Given the description of an element on the screen output the (x, y) to click on. 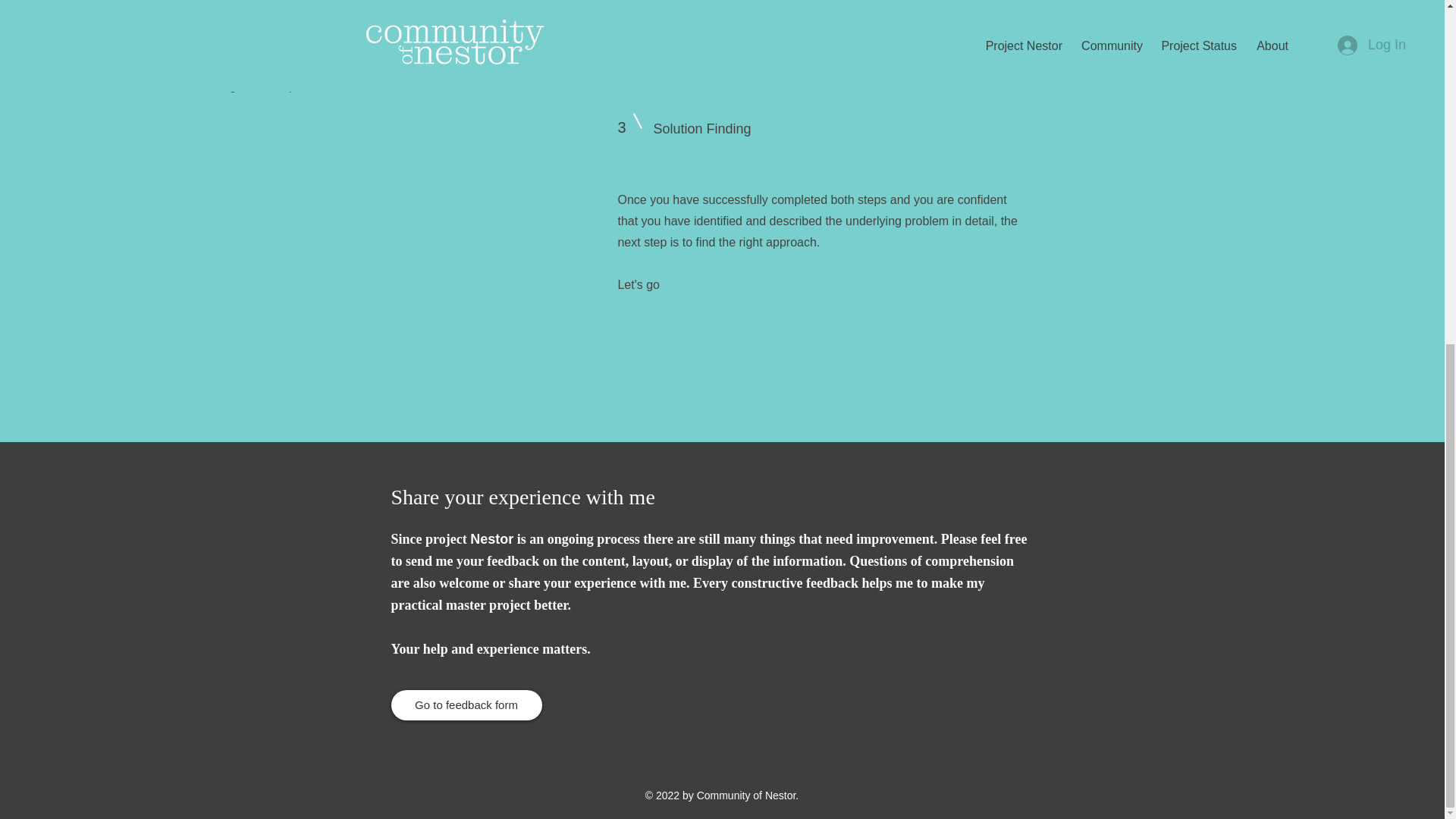
Go to feedback form (466, 705)
